Given the description of an element on the screen output the (x, y) to click on. 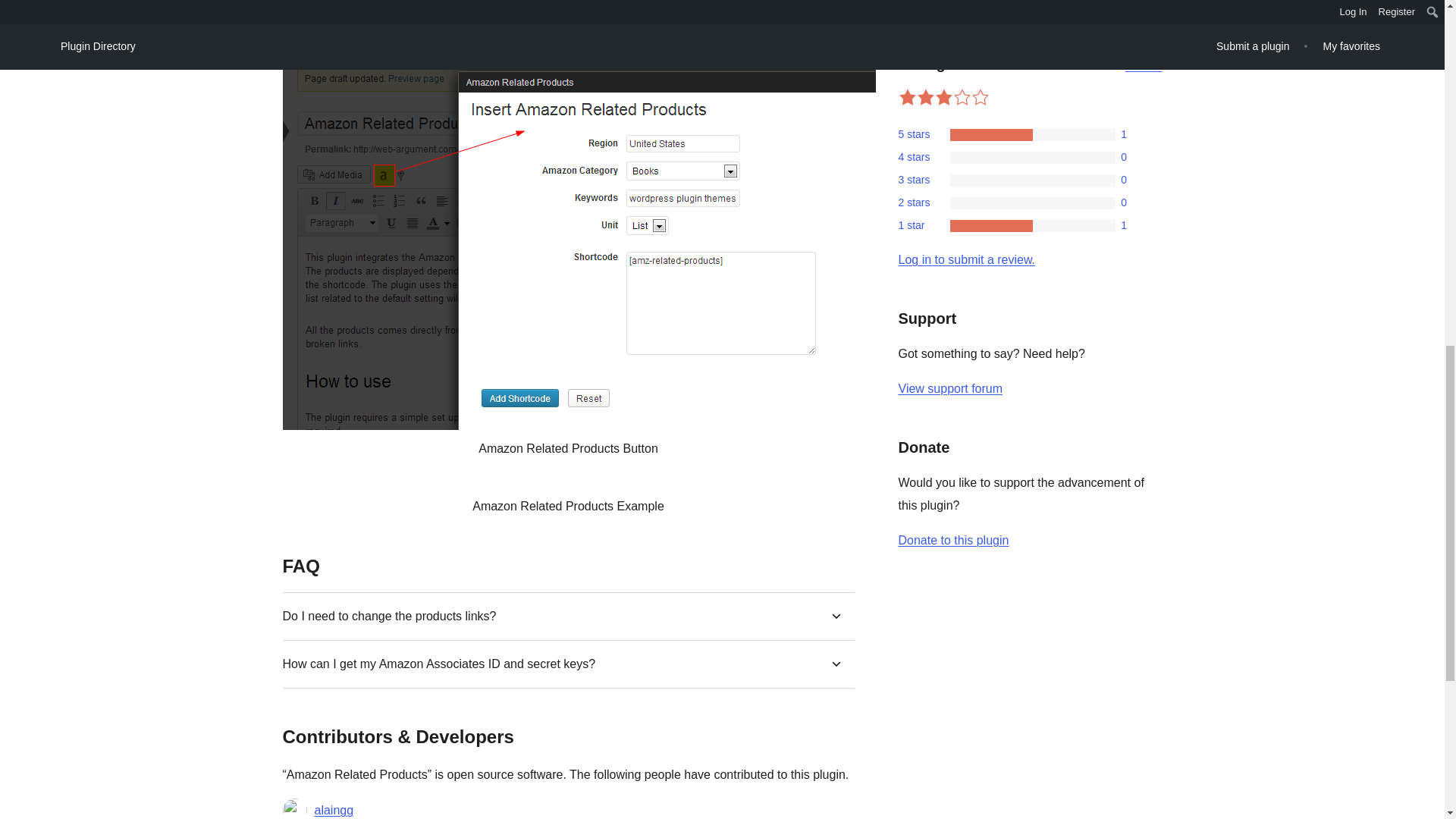
Log in to WordPress.org (966, 259)
alaingg (333, 809)
